Given the description of an element on the screen output the (x, y) to click on. 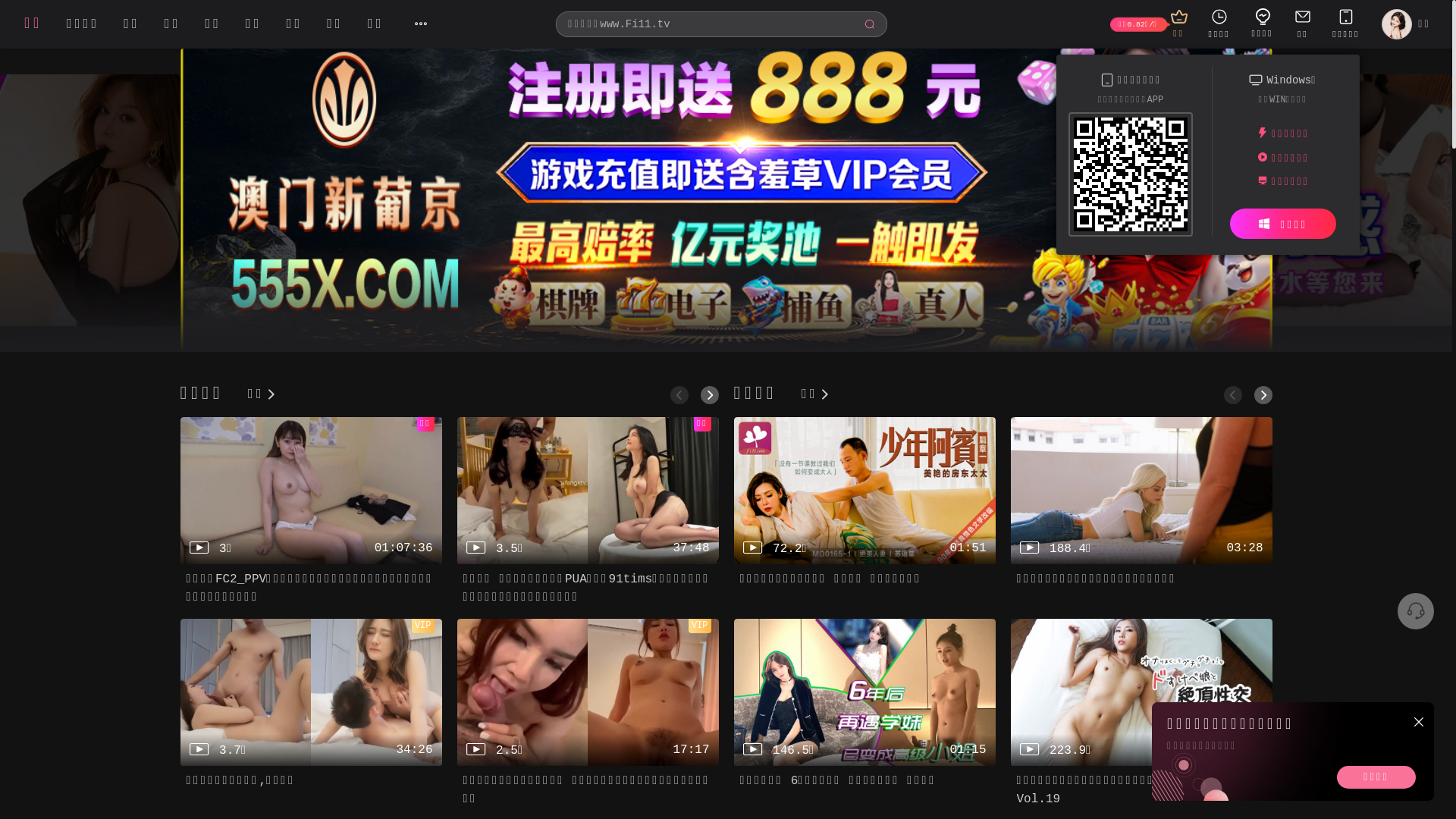
https://op.xinxi56.com?id=49847223 Element type: hover (1130, 177)
